Given the description of an element on the screen output the (x, y) to click on. 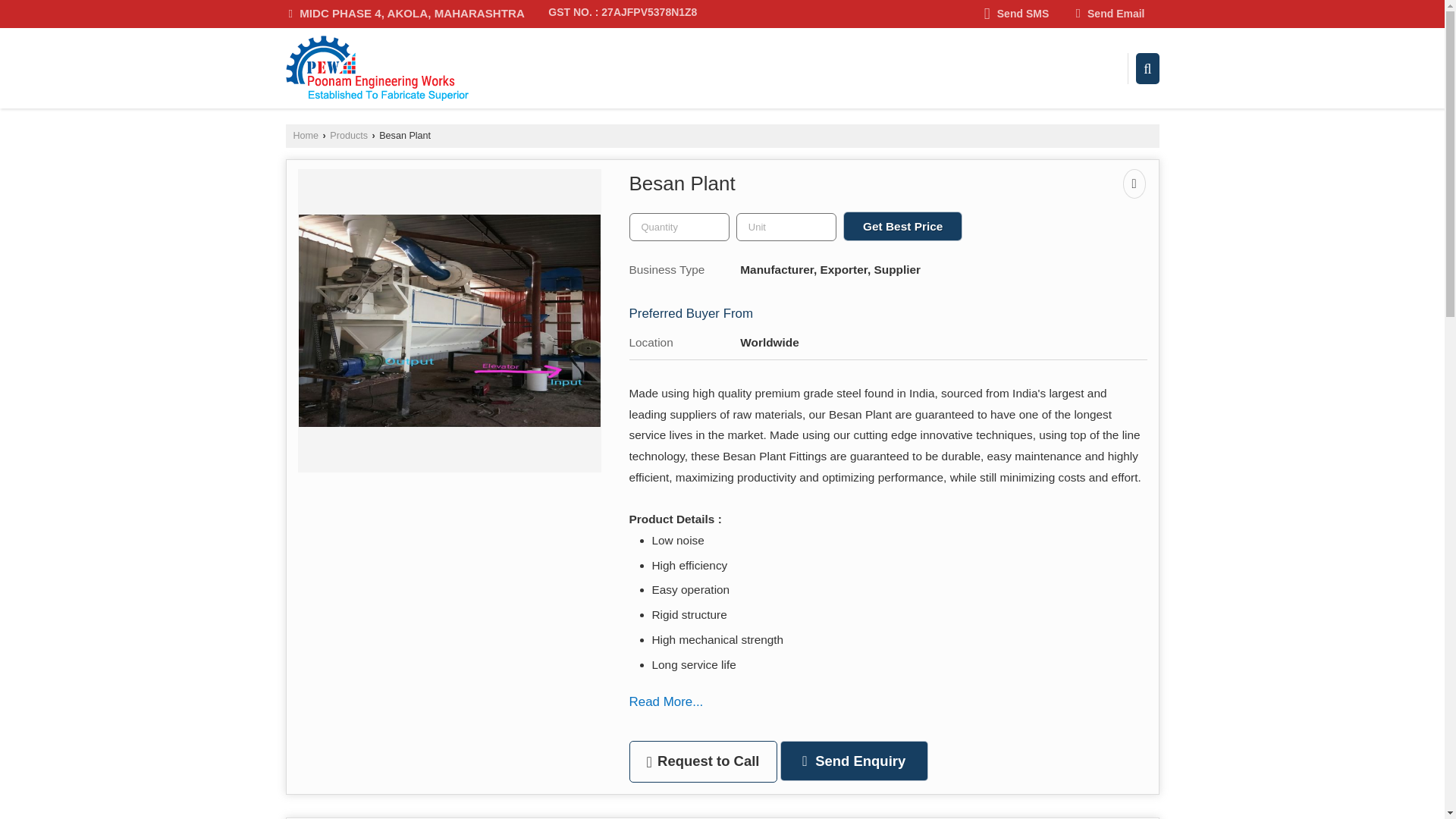
Home (305, 135)
Send Email (1110, 14)
Products (349, 135)
Send SMS (1015, 14)
